Given the description of an element on the screen output the (x, y) to click on. 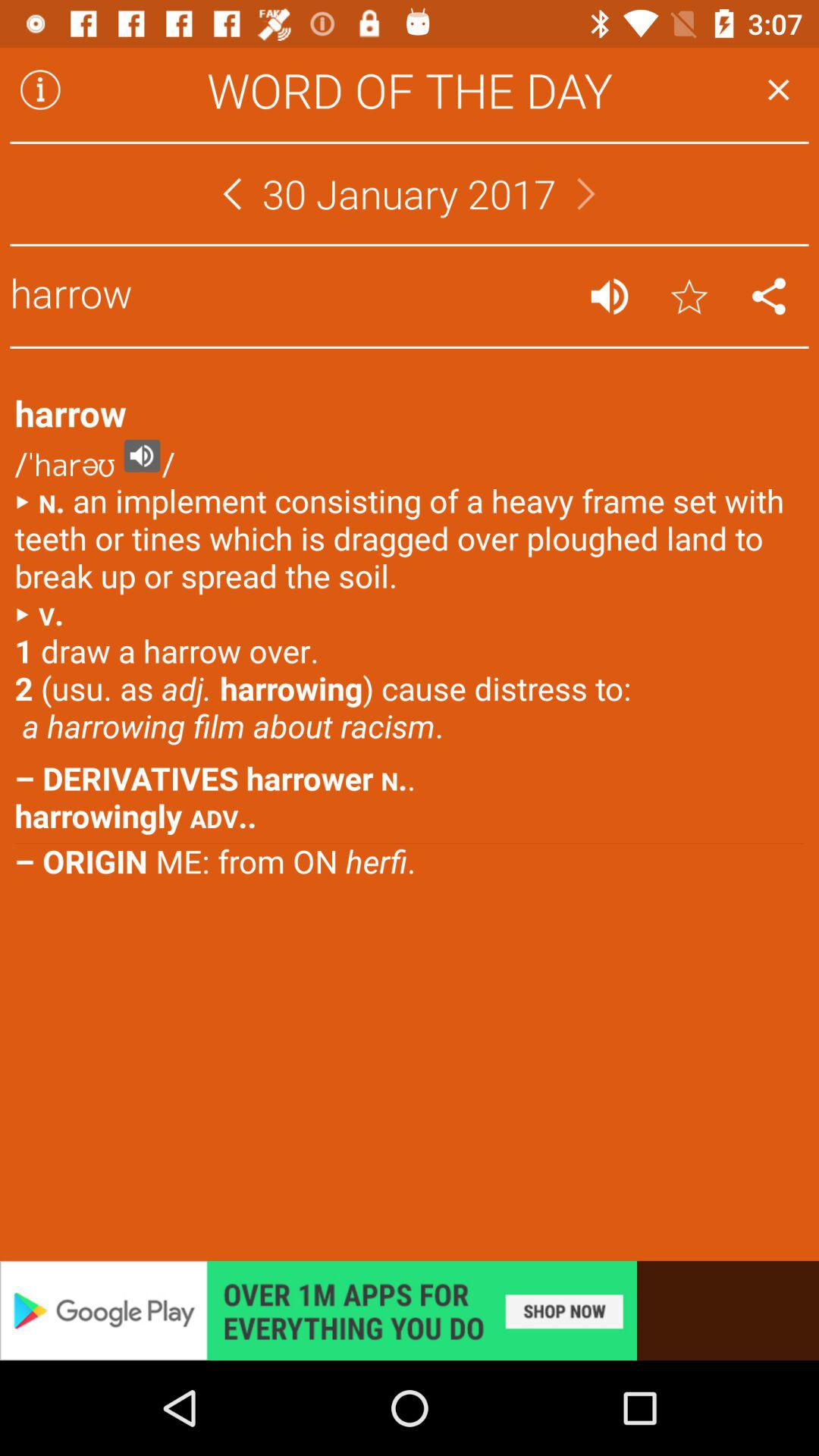
find out more (409, 1310)
